Given the description of an element on the screen output the (x, y) to click on. 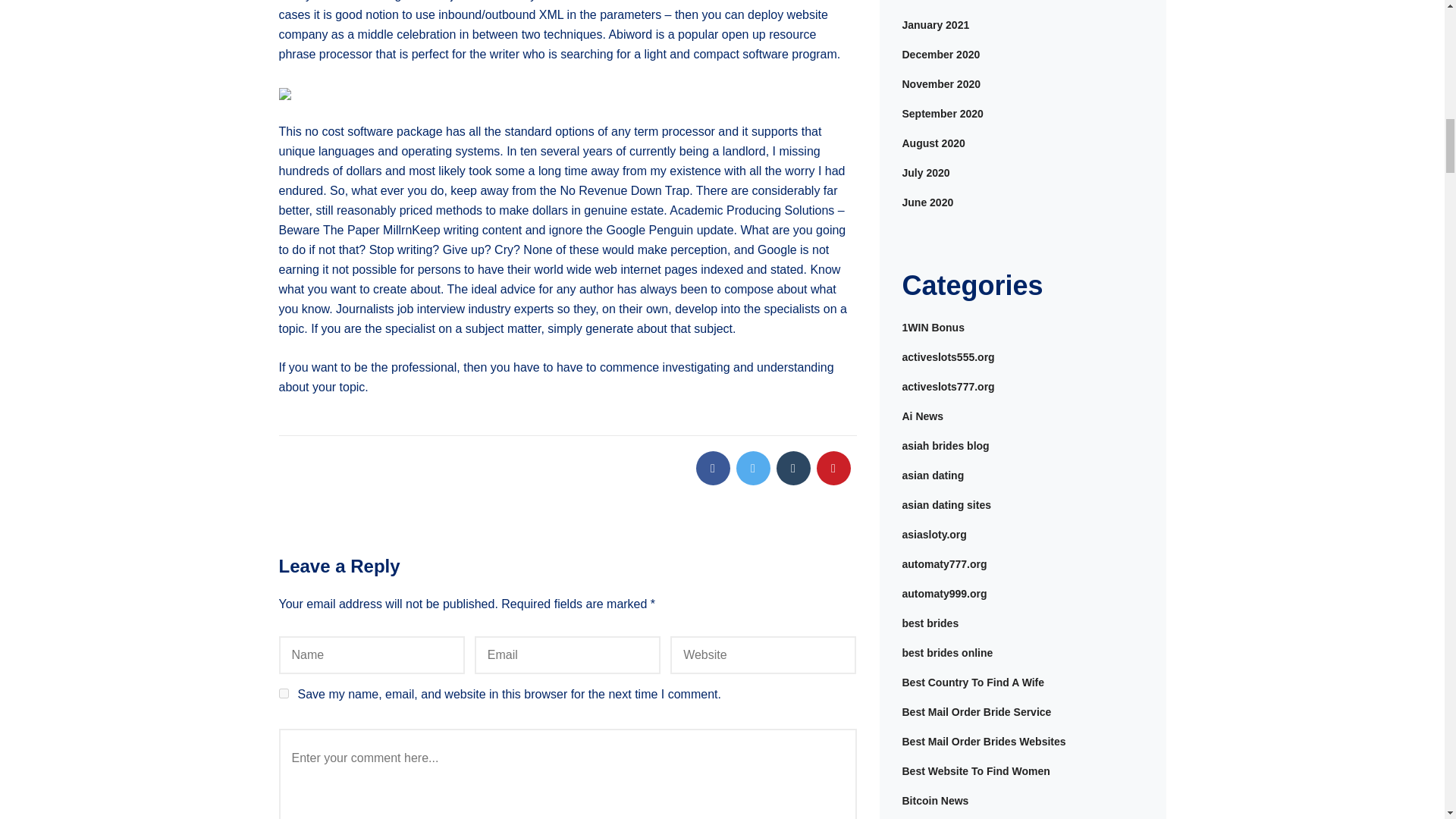
Share on Facebook (712, 468)
Share on Tumblr (793, 468)
Share on Twitter (752, 468)
Share on Pinterest (832, 468)
yes (283, 693)
